Given the description of an element on the screen output the (x, y) to click on. 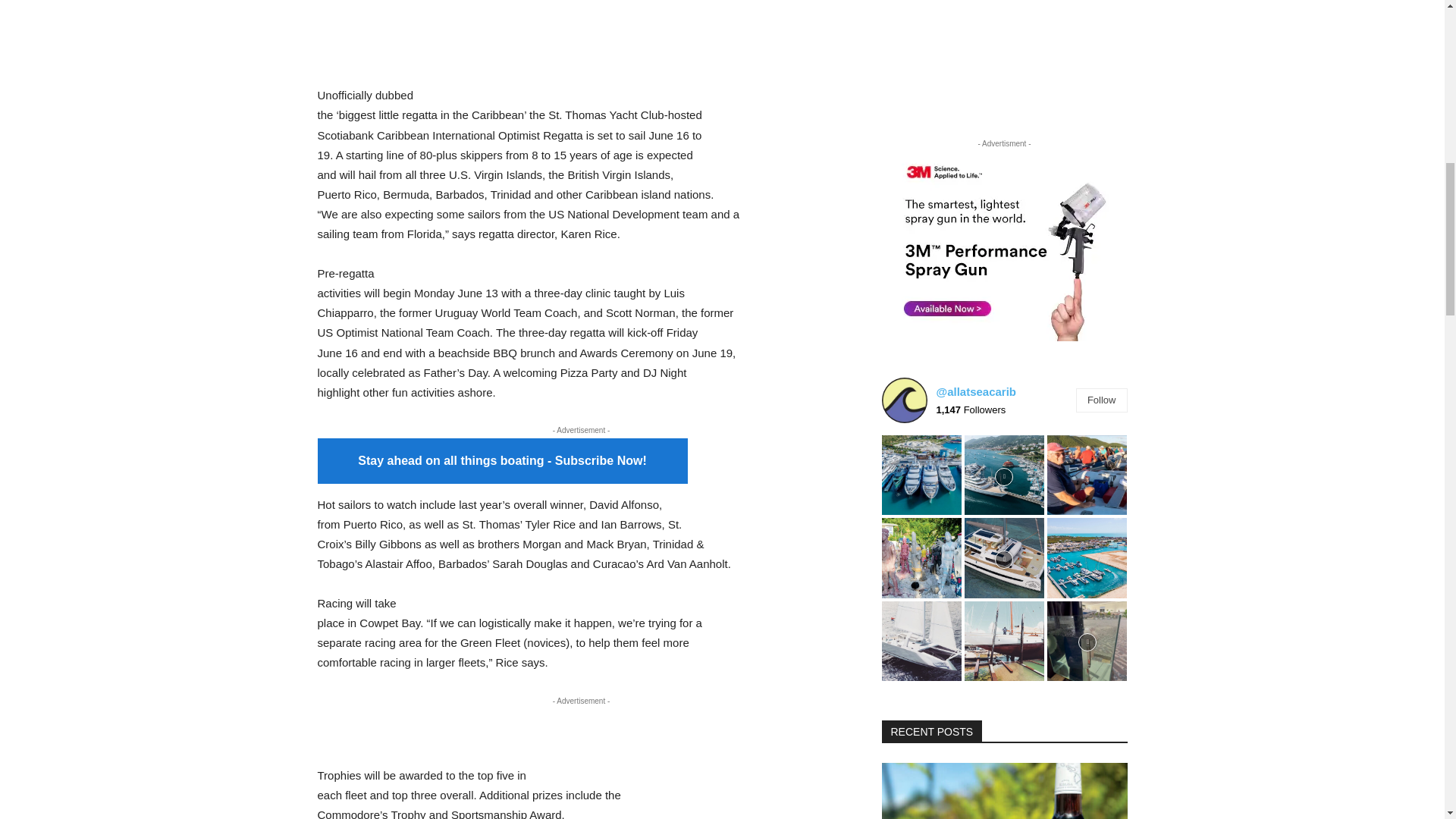
3rd party ad content (580, 35)
